Given the description of an element on the screen output the (x, y) to click on. 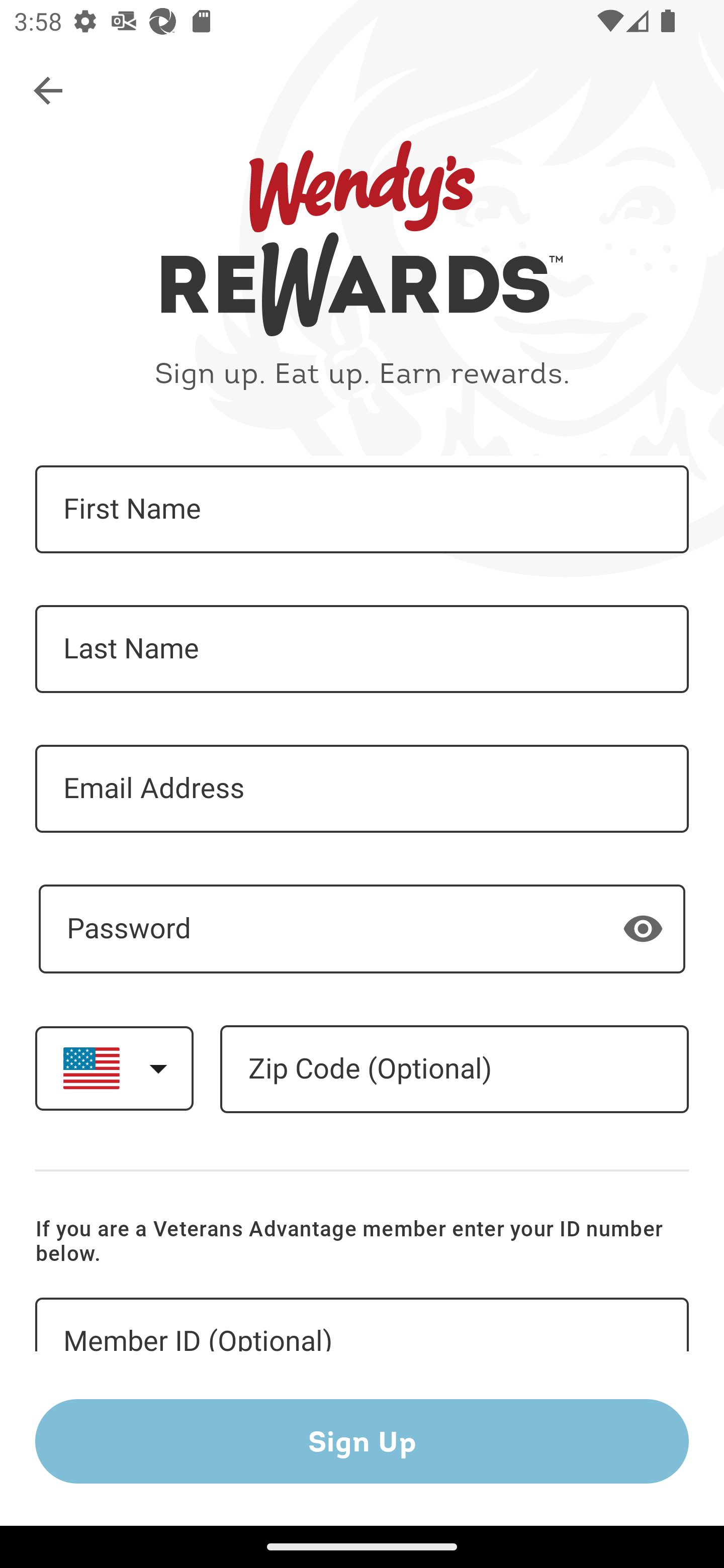
Navigate up (49, 91)
First Name - Required (361, 509)
Last Name - Required (361, 649)
Email Address - Required (361, 788)
- Required (361, 928)
Show password (642, 927)
Zip Code – Optional (454, 1069)
Select a country. United States selected. (114, 1067)
Veterans Advantage ID – Optional (361, 1324)
Sign Up (361, 1440)
